Given the description of an element on the screen output the (x, y) to click on. 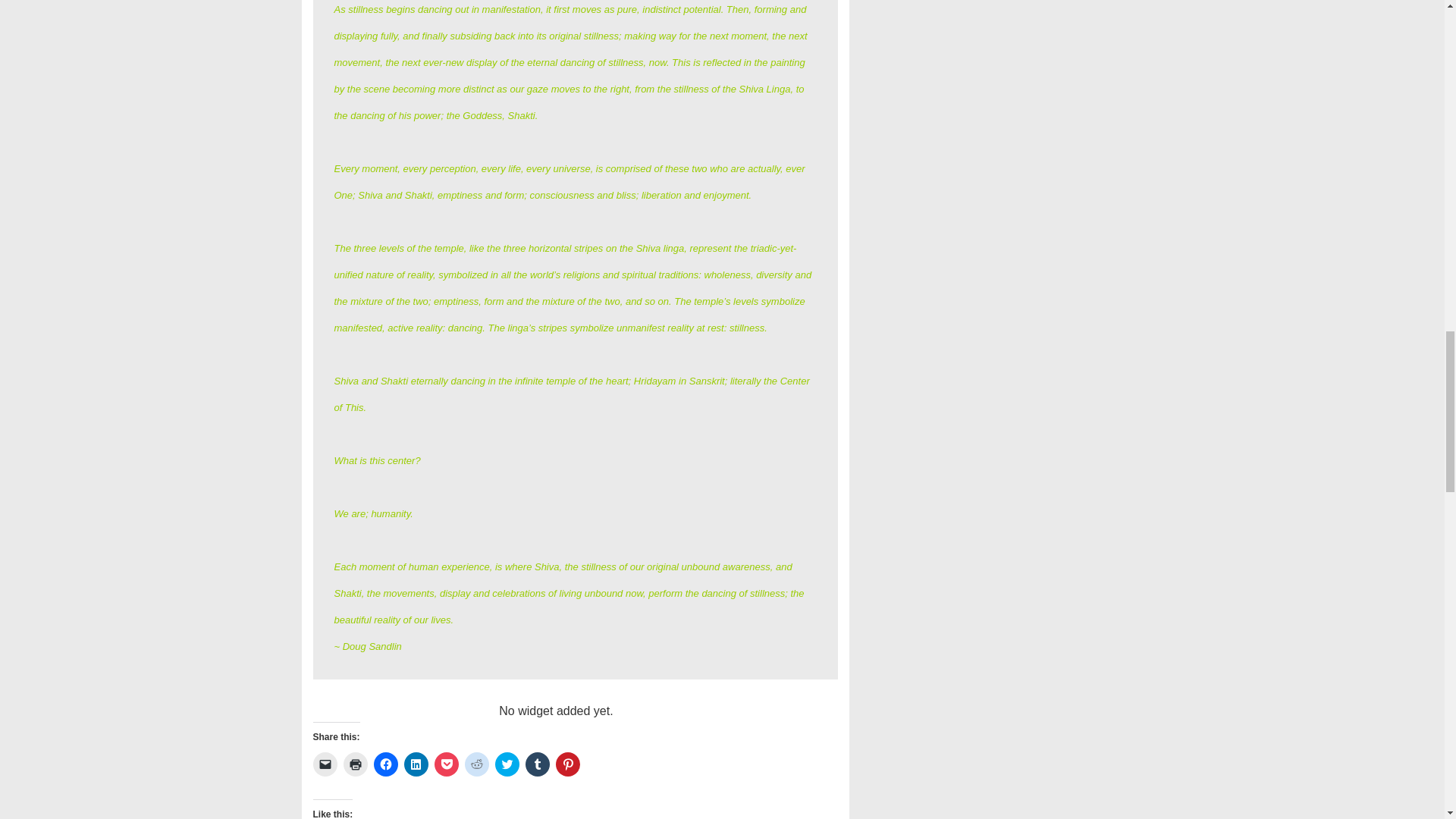
Click to print (354, 764)
Click to share on LinkedIn (415, 764)
Click to share on Twitter (506, 764)
Click to share on Facebook (384, 764)
Click to email a link to a friend (324, 764)
Click to share on Tumblr (536, 764)
Click to share on Pocket (445, 764)
Click to share on Reddit (475, 764)
Click to share on Pinterest (566, 764)
